Given the description of an element on the screen output the (x, y) to click on. 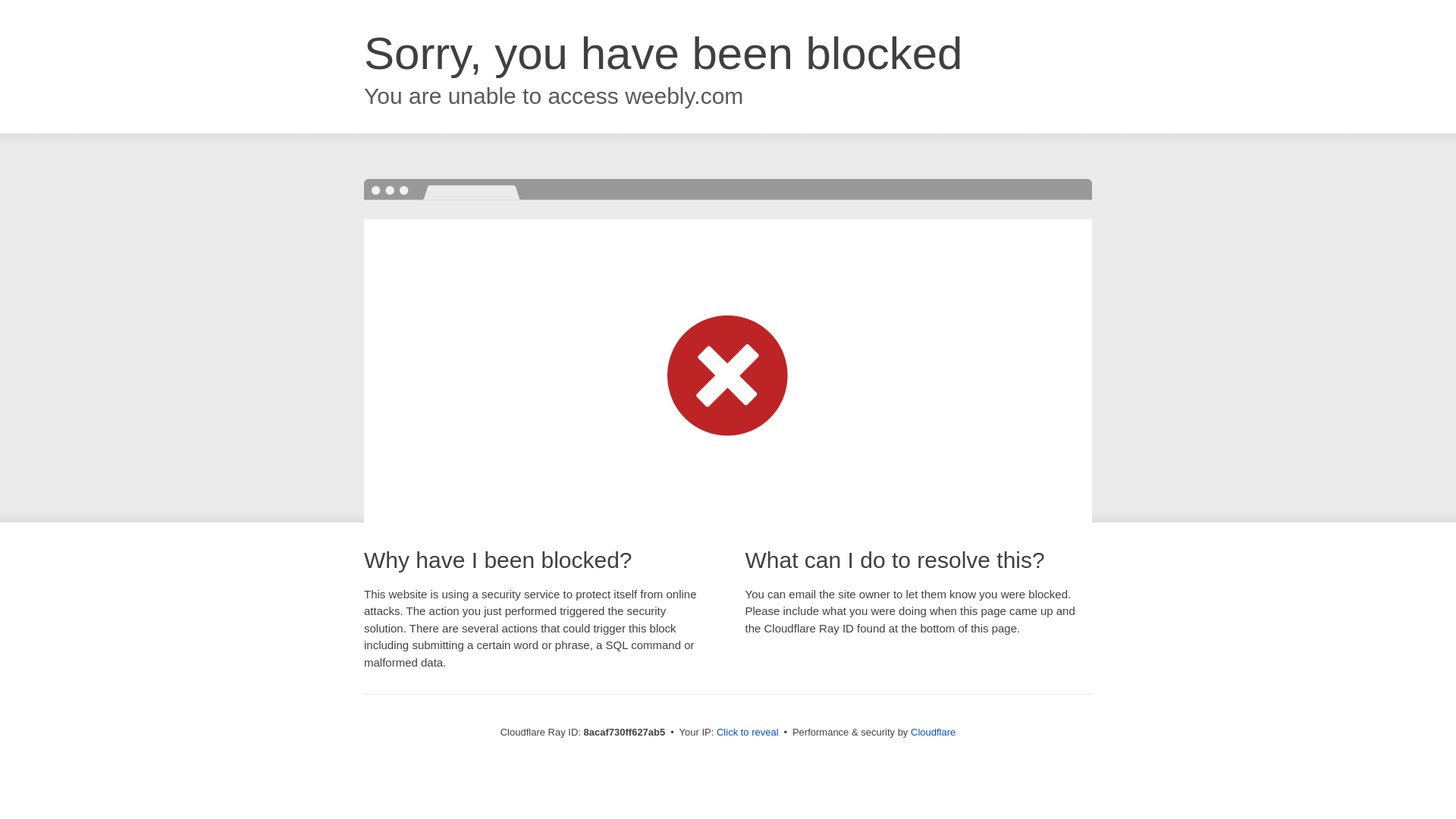
Cloudflare (933, 731)
Click to reveal (747, 732)
